Given the description of an element on the screen output the (x, y) to click on. 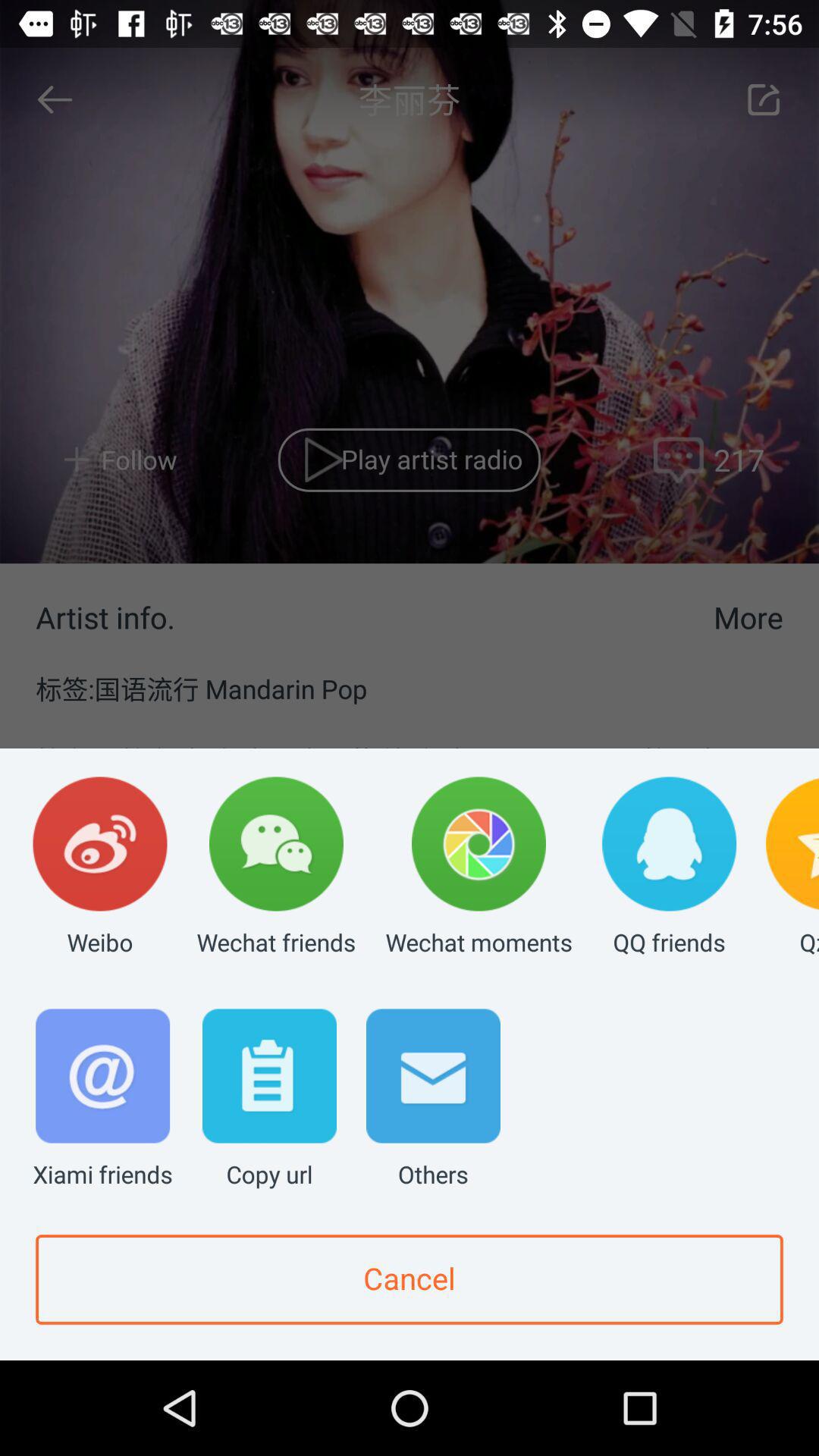
choose icon to the left of the qzone icon (669, 867)
